Given the description of an element on the screen output the (x, y) to click on. 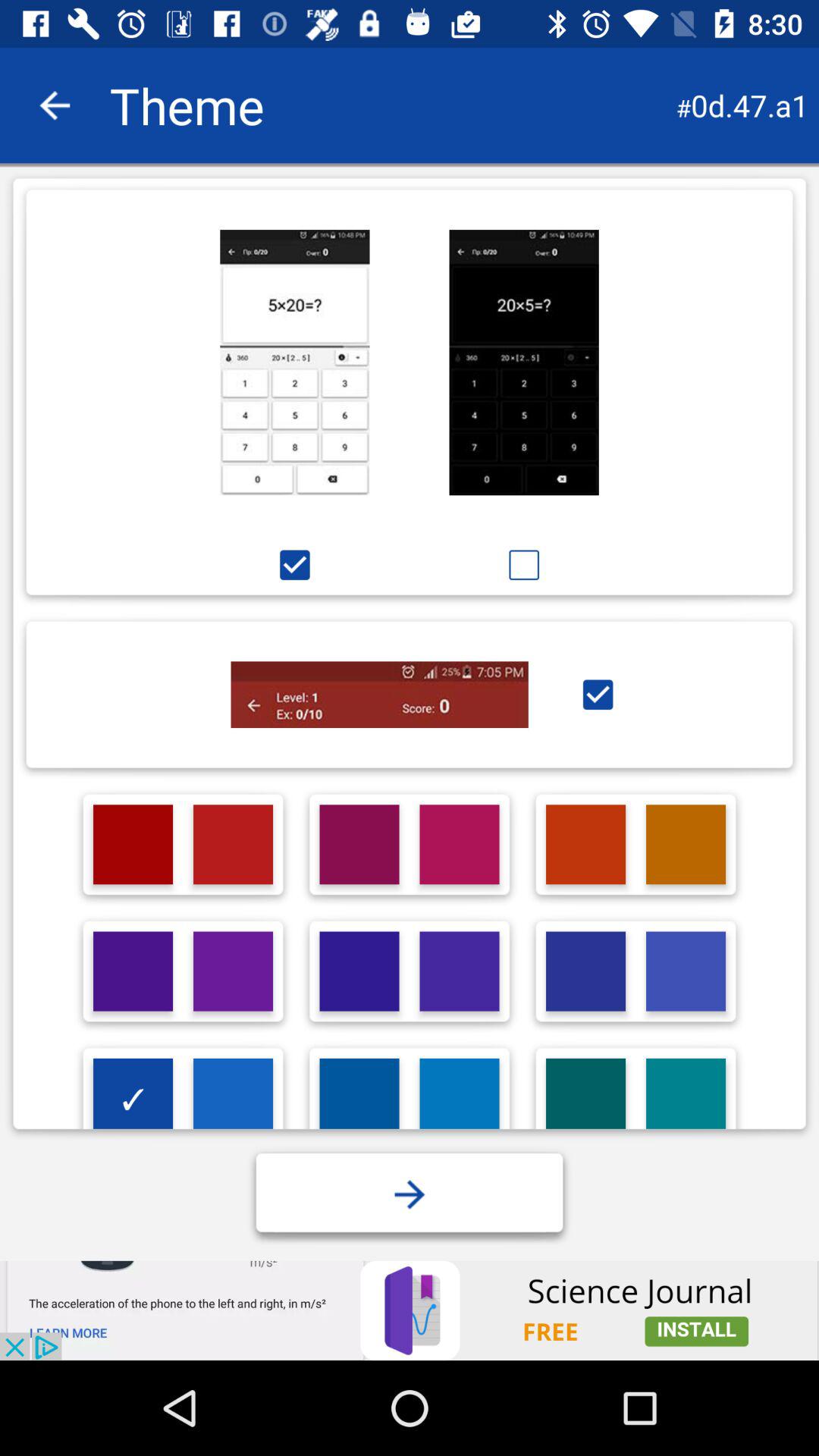
pick color (233, 971)
